Given the description of an element on the screen output the (x, y) to click on. 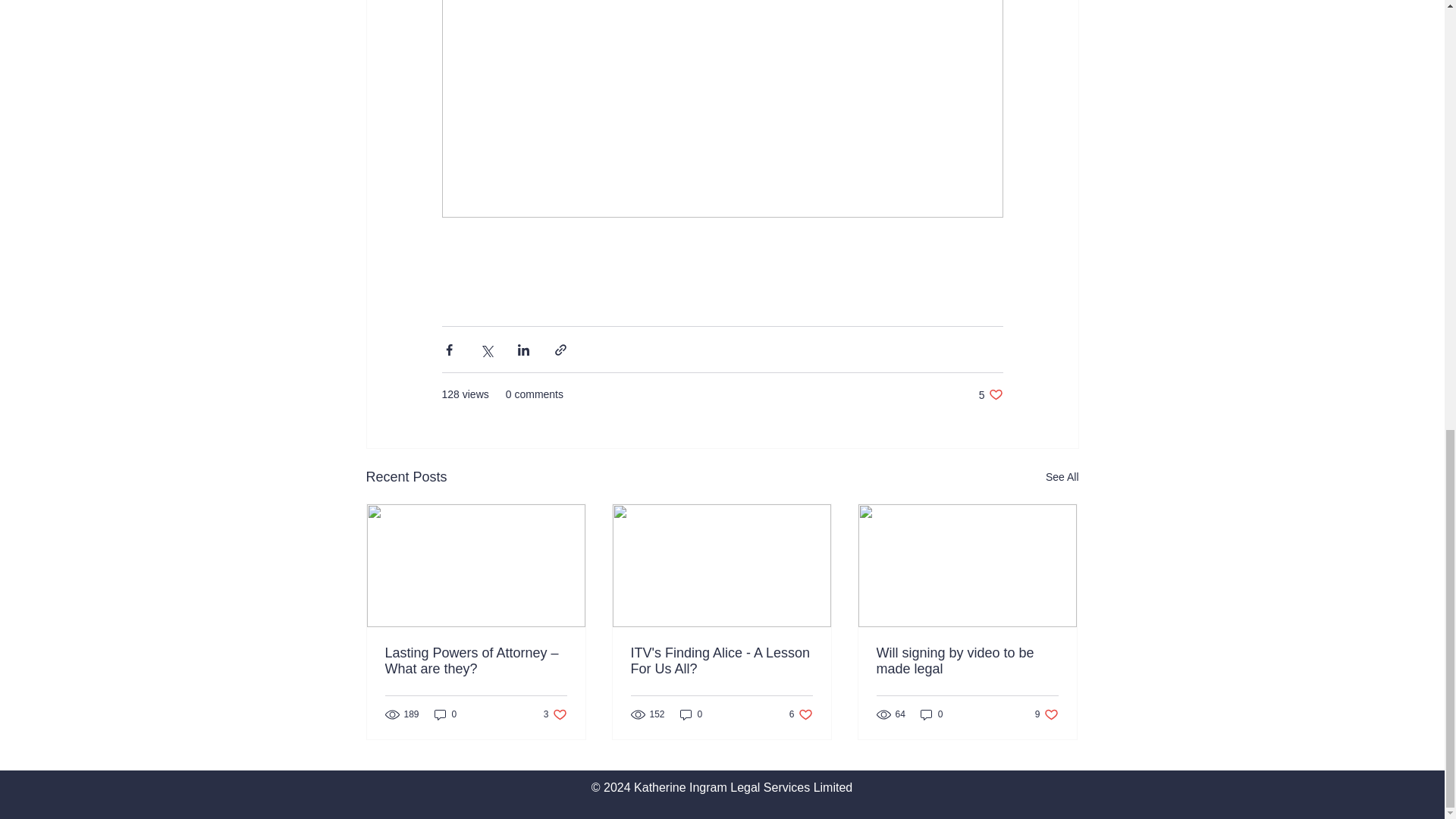
0 (691, 714)
See All (990, 394)
ITV's Finding Alice - A Lesson For Us All? (1046, 714)
0 (1061, 477)
Will signing by video to be made legal (721, 661)
0 (555, 714)
